Given the description of an element on the screen output the (x, y) to click on. 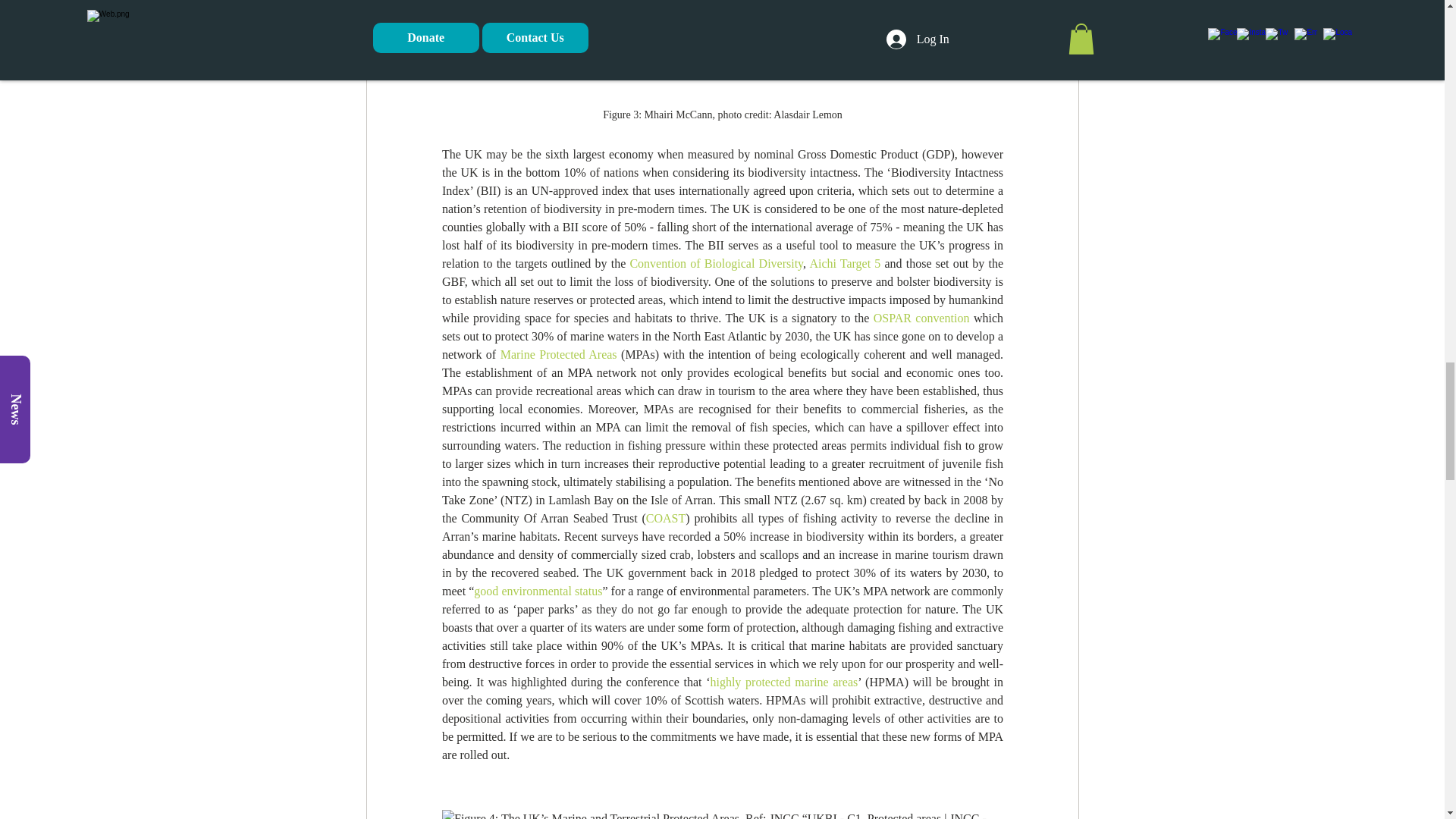
Marine Protected Areas (557, 354)
good environmental status (538, 590)
OSPAR convention (920, 318)
Aichi Target 5 (844, 263)
highly protected marine areas (783, 681)
Convention of Biological Diversity (715, 263)
COAST (664, 517)
